Given the description of an element on the screen output the (x, y) to click on. 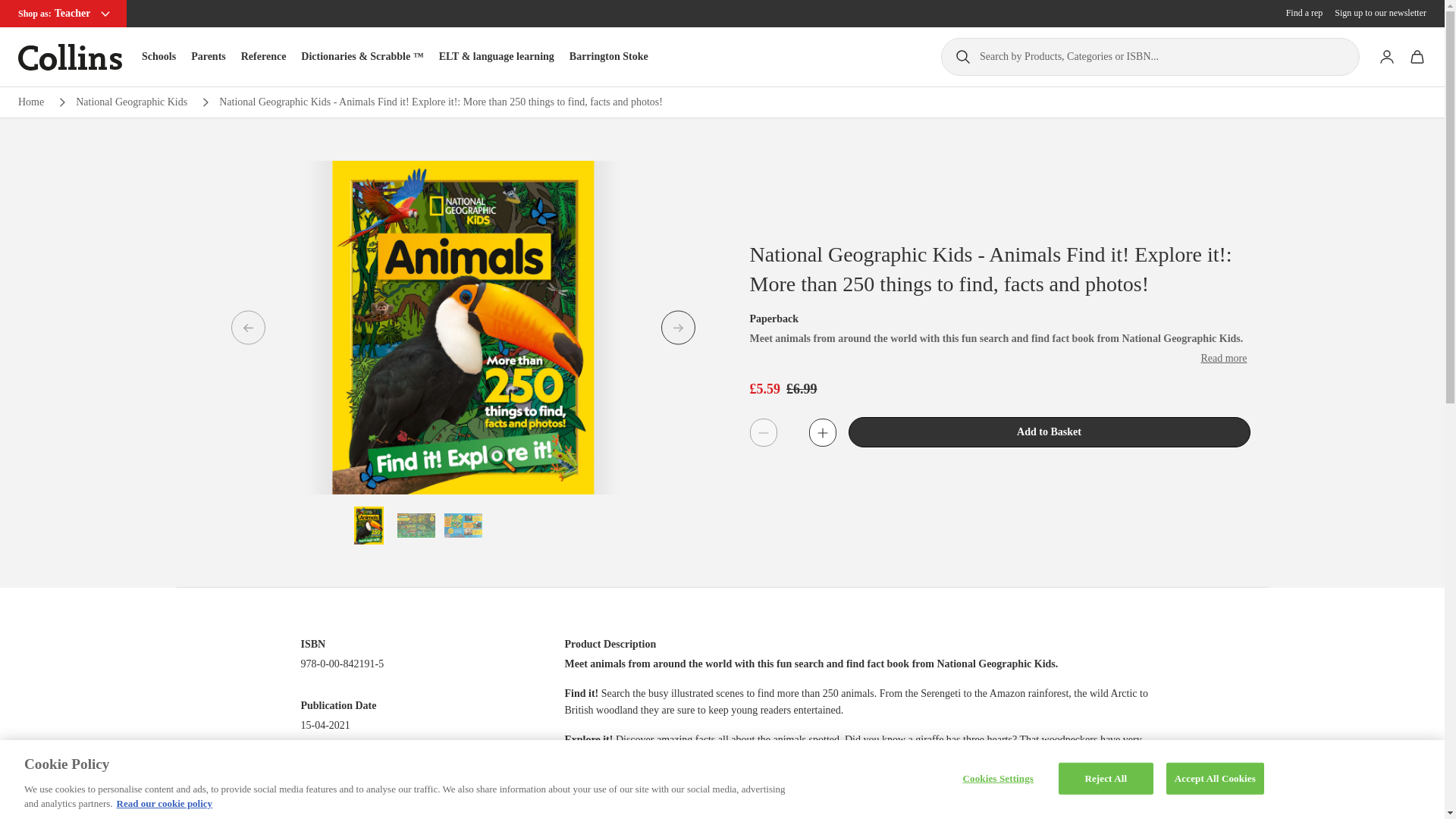
National Geographic Kids (131, 102)
Reference (264, 56)
Toggle cart (1417, 56)
Next slide (678, 327)
Schools (158, 56)
Barrington Stoke (608, 56)
Add to Basket (1048, 431)
Read more (1222, 358)
Increase quantity (821, 431)
Read all about National Geographic Kids (131, 102)
Collins (69, 57)
Decrease quantity (762, 431)
Sign up to our newsletter (1380, 12)
Find a rep (1304, 12)
